Given the description of an element on the screen output the (x, y) to click on. 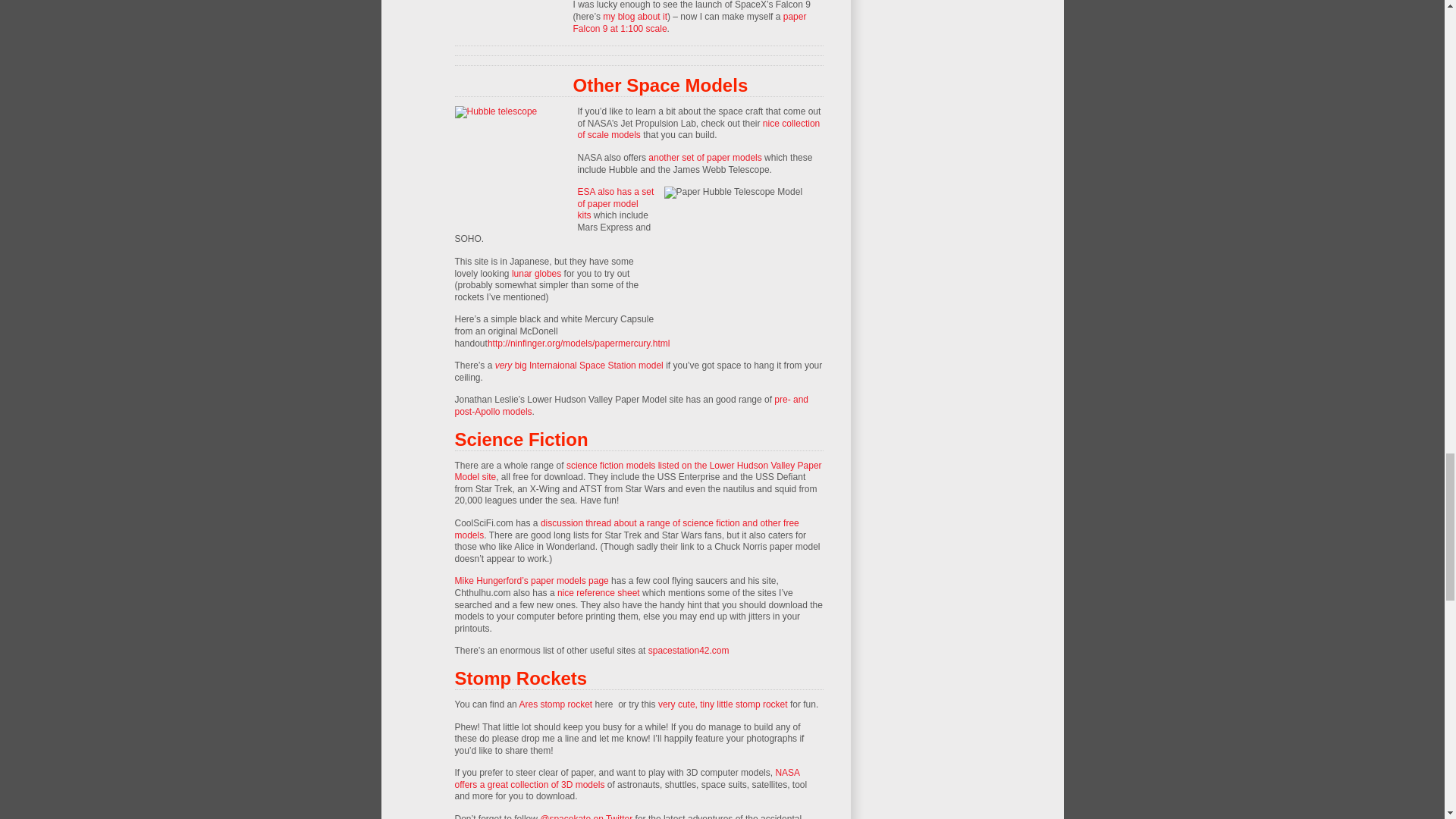
Hubble telescope (511, 163)
Paper Hubble Telescope Model (743, 253)
paper Falcon 9 at 1:100 scale (689, 22)
my blog about it (634, 16)
SpaceX Falcon 9 launch (509, 46)
